Given the description of an element on the screen output the (x, y) to click on. 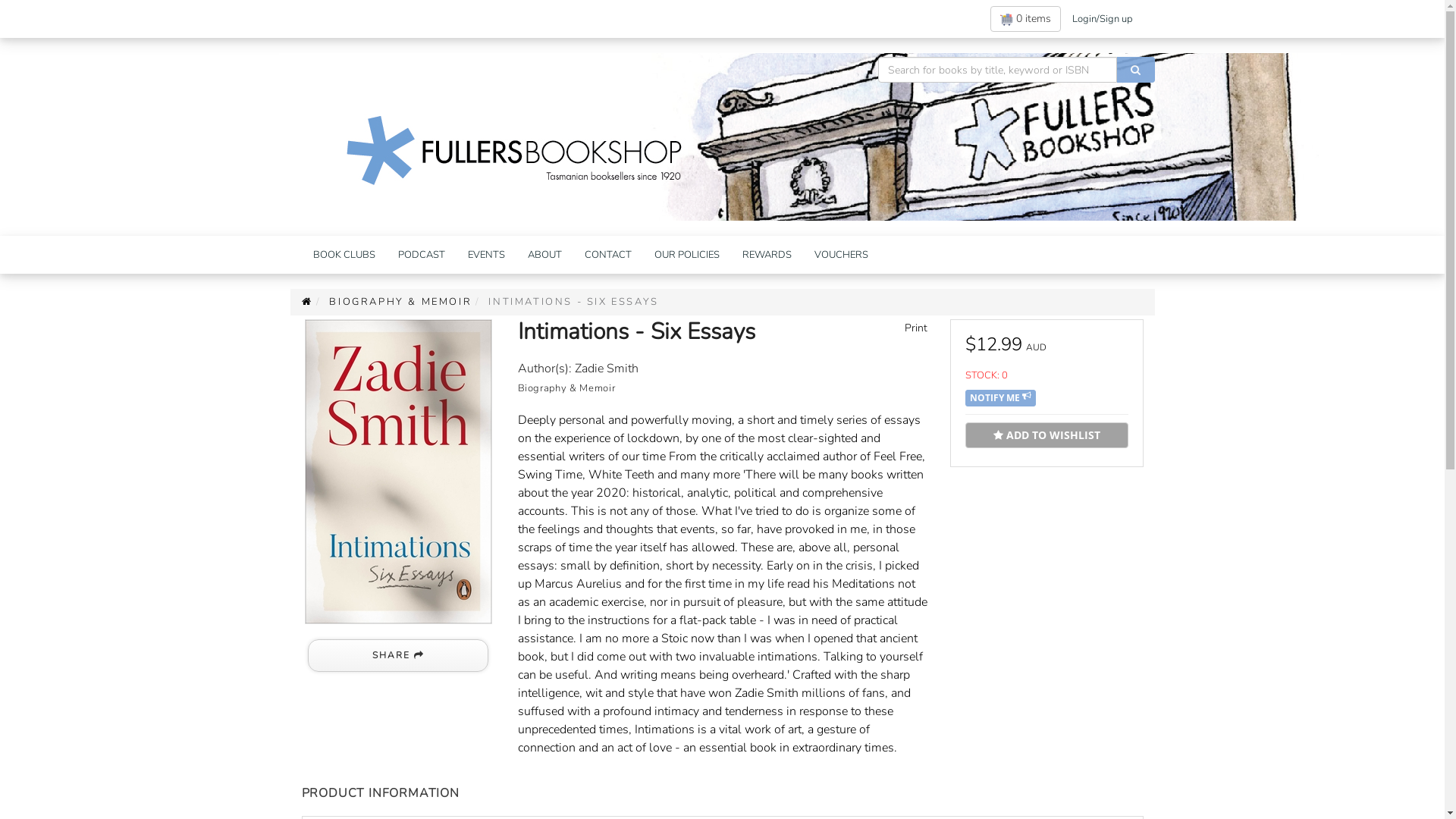
SHARE Element type: text (397, 655)
REWARDS Element type: text (767, 254)
NOTIFY ME Element type: text (999, 397)
BOOK CLUBS Element type: text (343, 254)
CONTACT Element type: text (608, 254)
Zadie Smith Element type: text (606, 368)
ADD TO WISHLIST Element type: text (1045, 435)
Intimations - Six Essays Element type: hover (398, 471)
ABOUT Element type: text (543, 254)
PODCAST Element type: text (421, 254)
OUR POLICIES Element type: text (687, 254)
0 items Element type: text (1025, 18)
EVENTS Element type: text (486, 254)
0 items Element type: text (1025, 18)
Login/Sign up Element type: text (1101, 18)
 Print Element type: text (913, 327)
VOUCHERS Element type: text (840, 254)
BIOGRAPHY & MEMOIR Element type: text (400, 301)
Biography & Memoir Element type: text (566, 388)
